Given the description of an element on the screen output the (x, y) to click on. 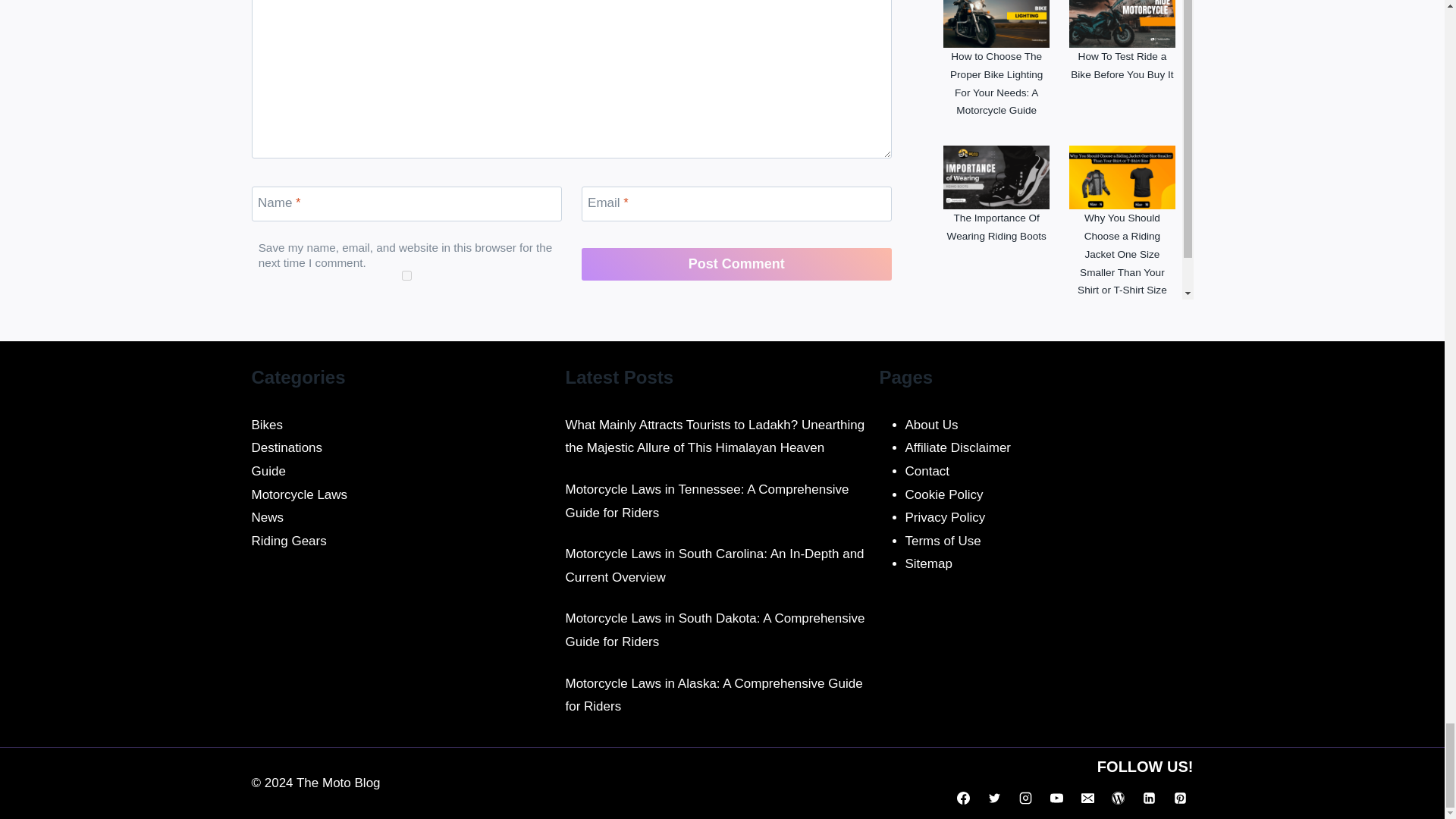
yes (406, 275)
Post Comment (736, 264)
